Given the description of an element on the screen output the (x, y) to click on. 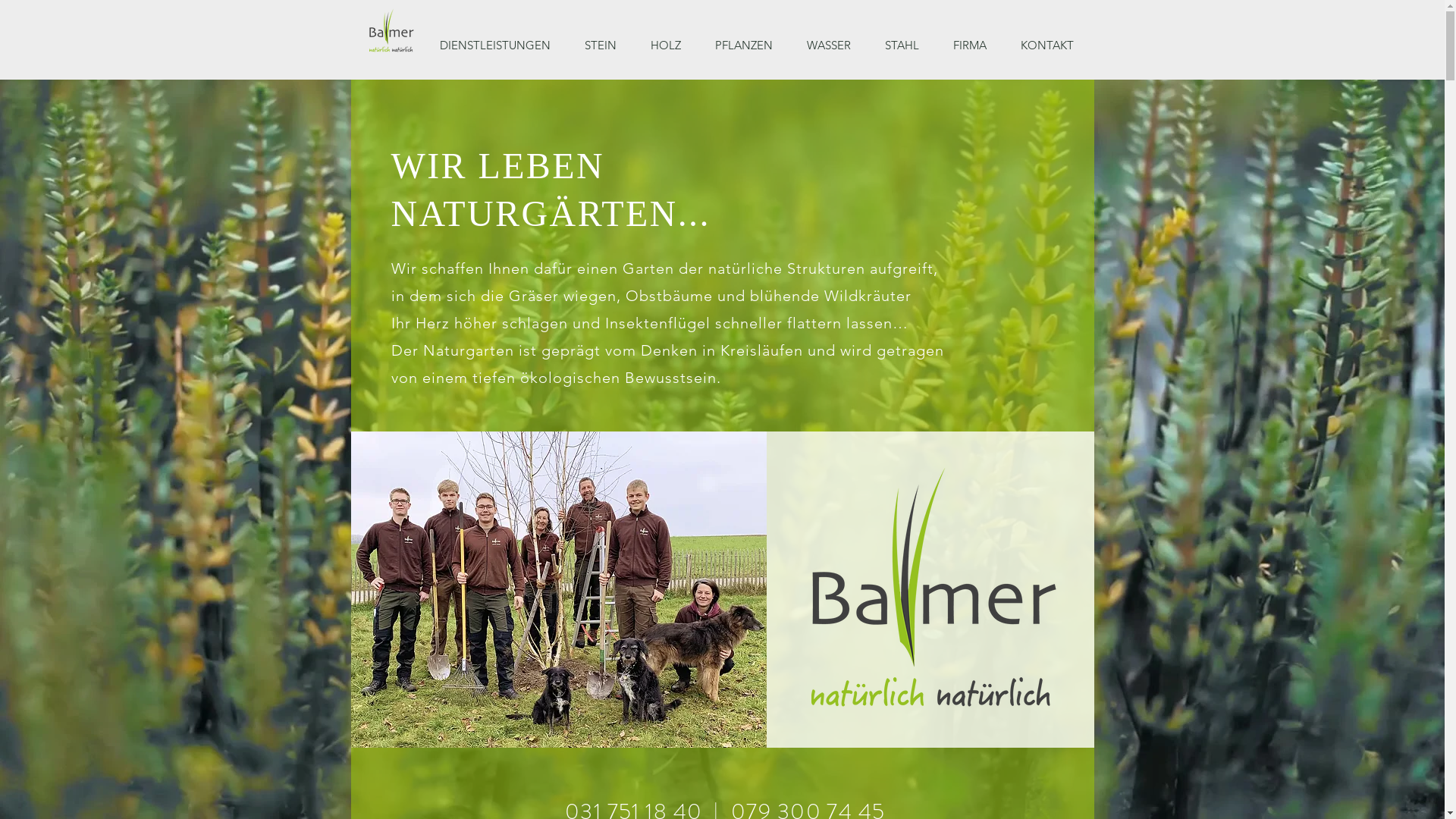
DIENSTLEISTUNGEN Element type: text (499, 45)
HOLZ Element type: text (670, 45)
PFLANZEN Element type: text (749, 45)
KONTAKT Element type: text (1051, 45)
FIRMA Element type: text (975, 45)
STEIN Element type: text (606, 45)
WASSER Element type: text (833, 45)
STAHL Element type: text (907, 45)
